Given the description of an element on the screen output the (x, y) to click on. 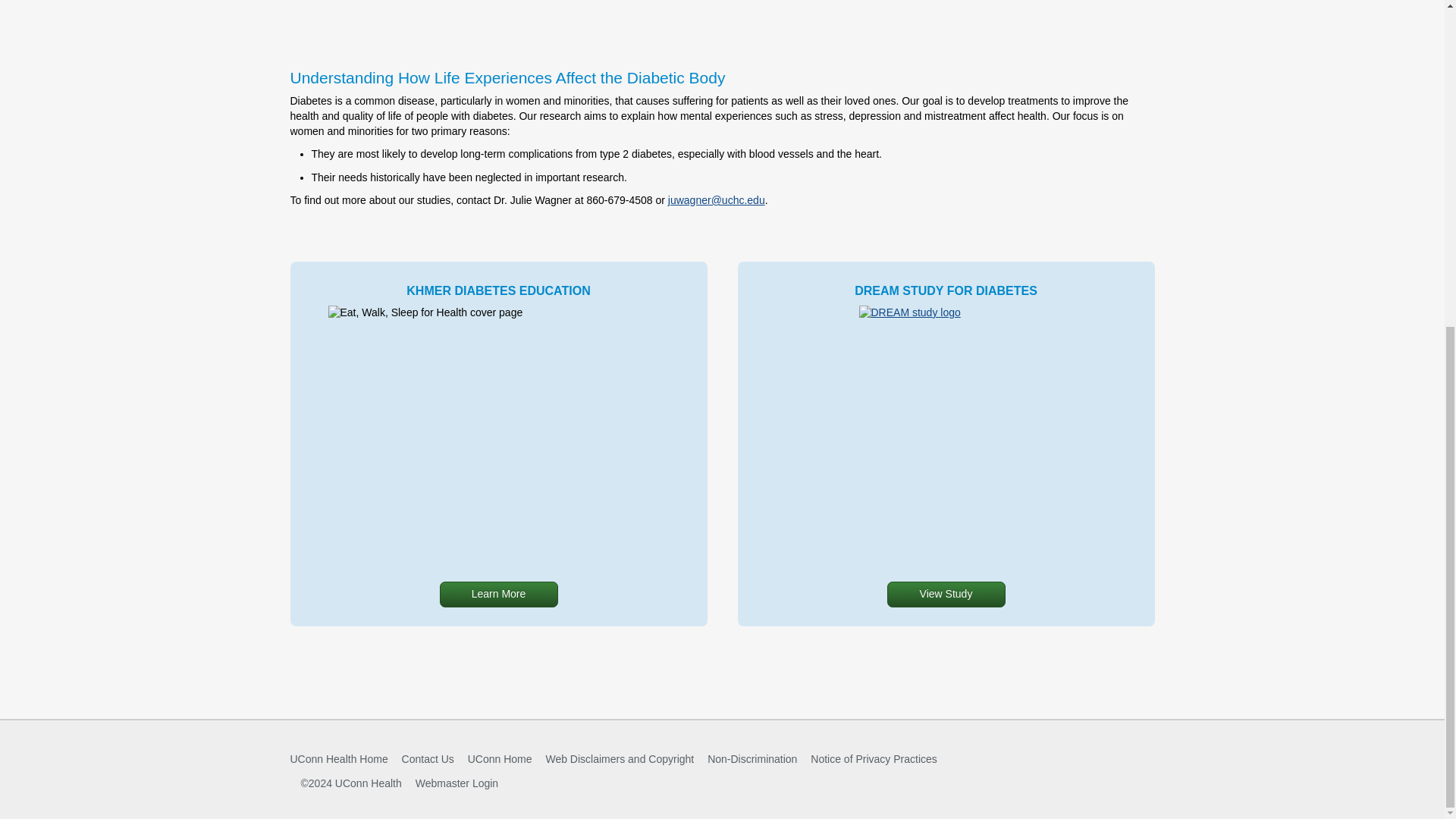
View Study (946, 594)
Learn More (498, 594)
Web Disclaimers and Copyright (619, 759)
Non-Discrimination (751, 759)
UConn Health Home (338, 759)
Webmaster Login (455, 782)
Notice of Privacy Practices (873, 759)
Contact Us (427, 759)
UConn Home (499, 759)
